Given the description of an element on the screen output the (x, y) to click on. 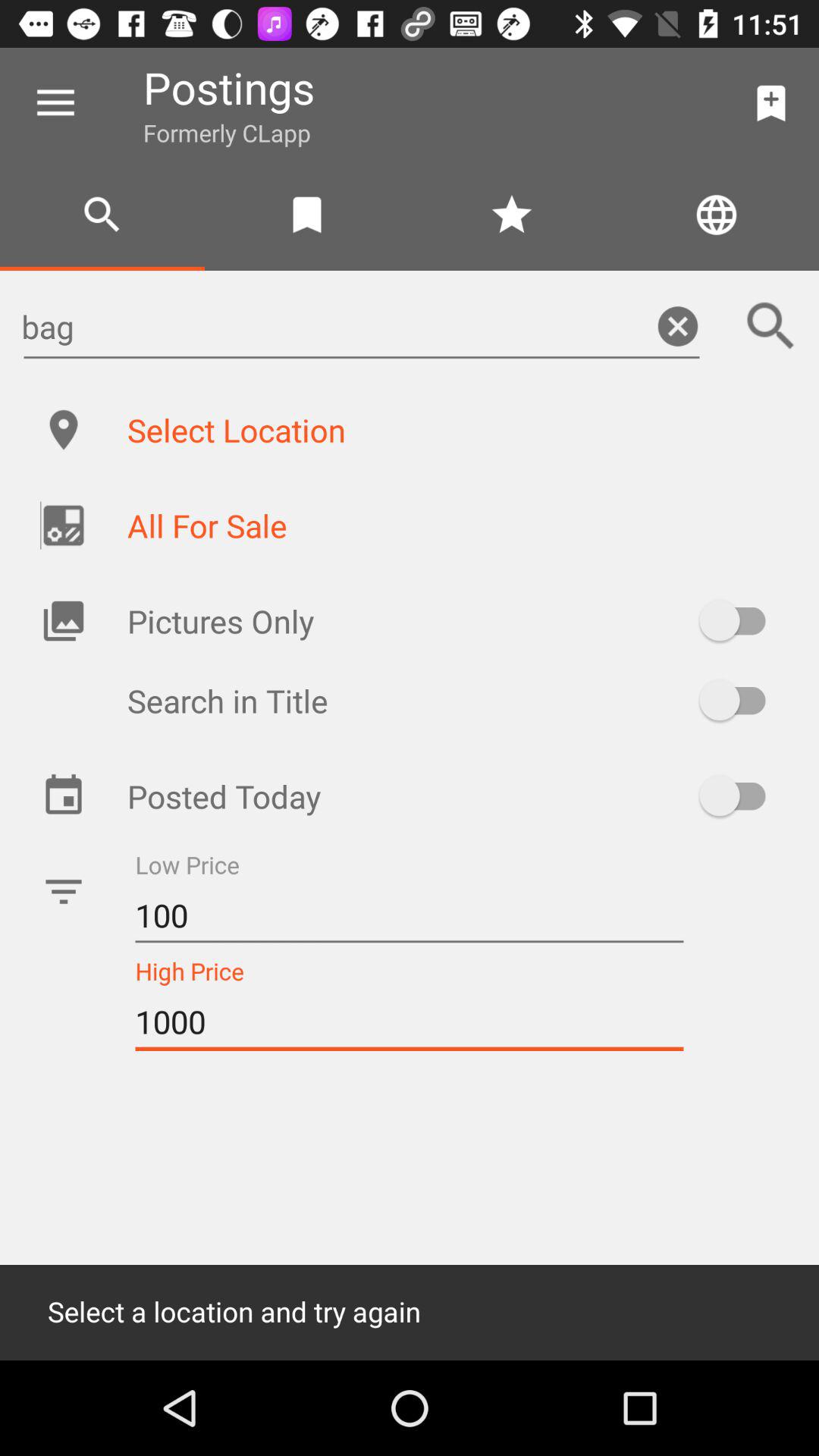
enable pictures only (739, 620)
